Given the description of an element on the screen output the (x, y) to click on. 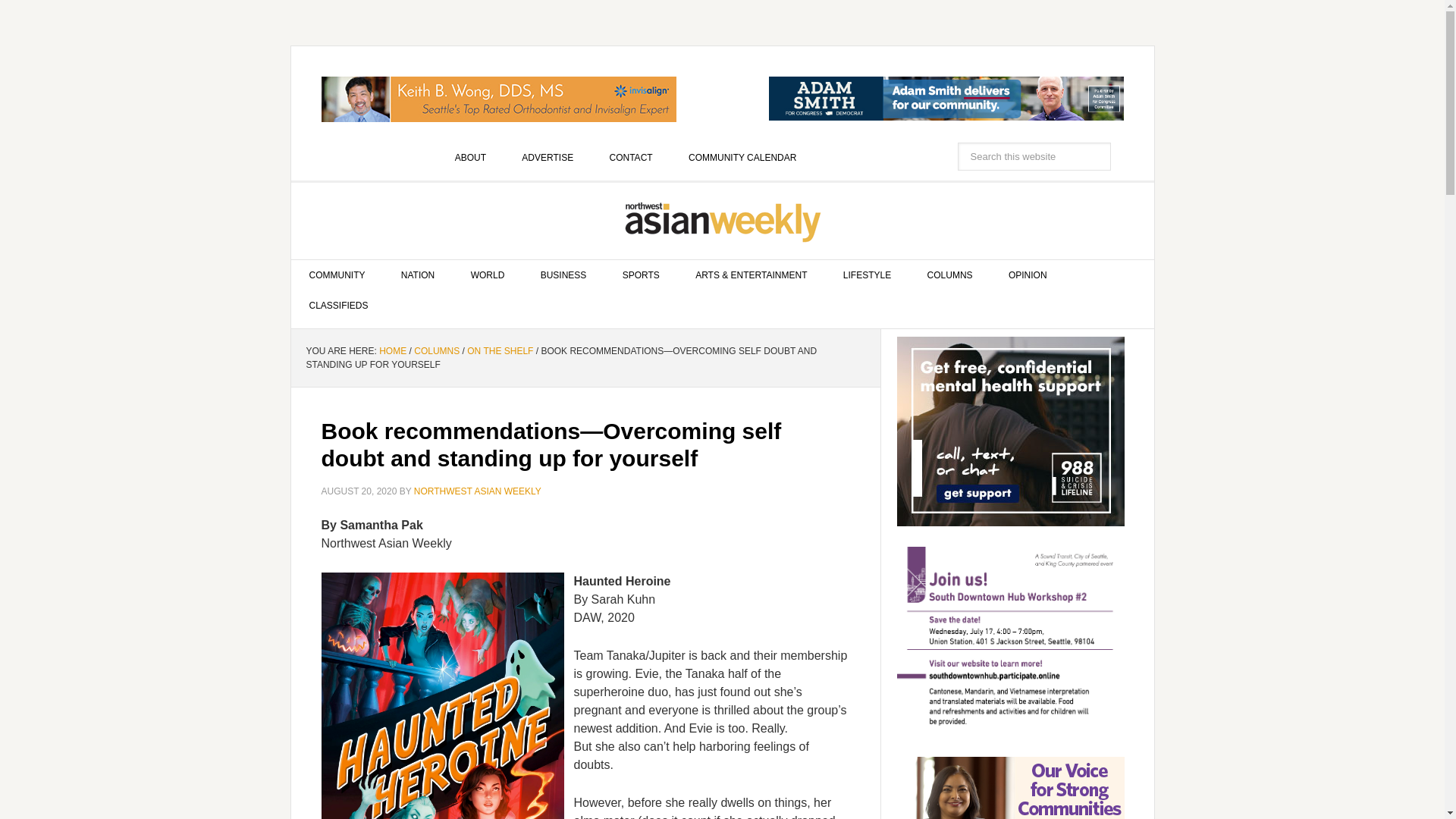
NORTHWEST ASIAN WEEKLY (477, 491)
LIFESTYLE (866, 275)
COLUMNS (949, 275)
NATION (417, 275)
CONTACT (631, 157)
WORLD (487, 275)
NORTHWEST ASIAN WEEKLY (722, 221)
SPORTS (641, 275)
COLUMNS (436, 350)
COMMUNITY CALENDAR (741, 157)
OPINION (1027, 275)
ABOUT (469, 157)
CLASSIFIEDS (339, 305)
